Given the description of an element on the screen output the (x, y) to click on. 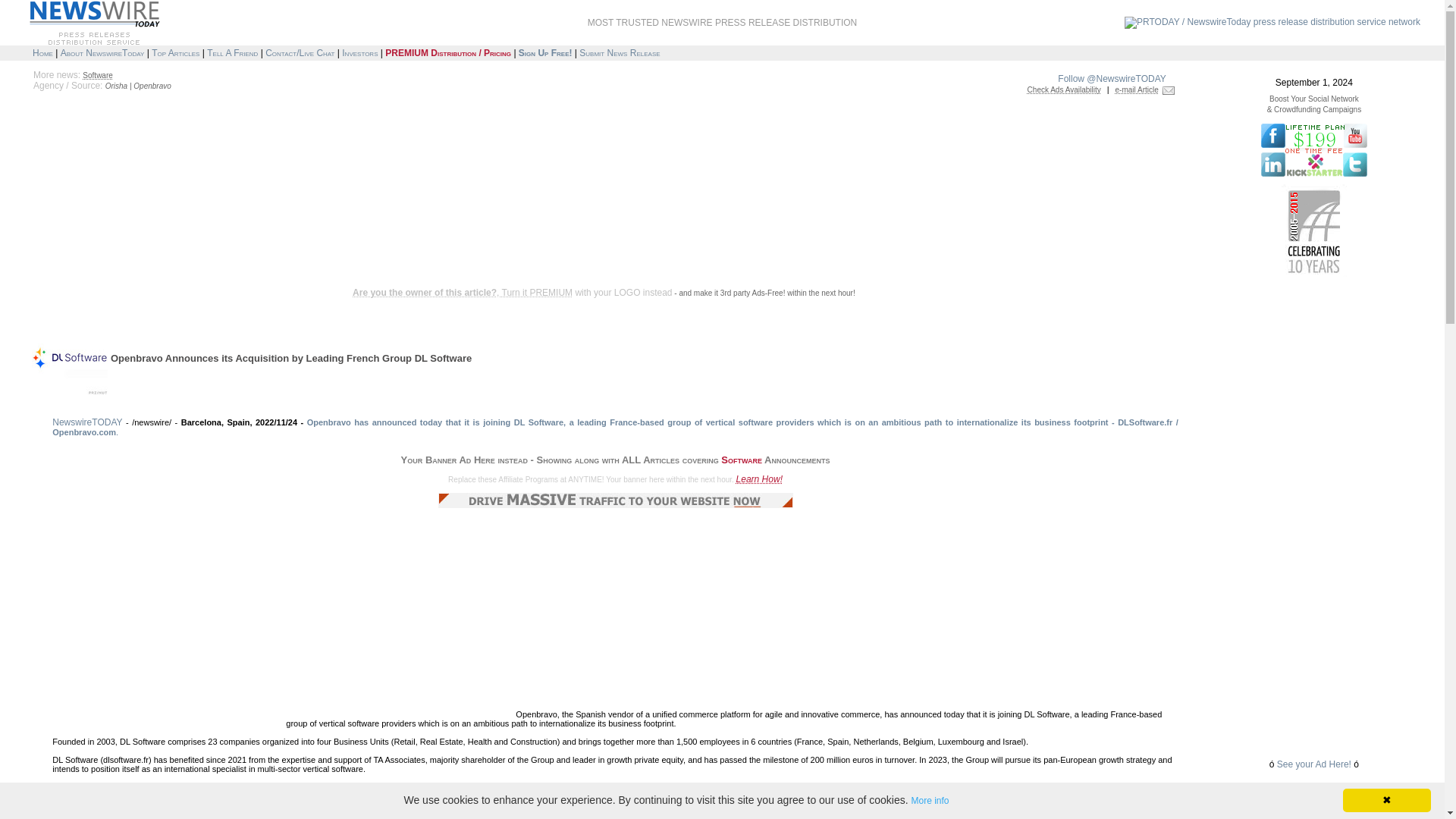
Read more articles about Software (97, 75)
Software (97, 74)
Purchase banner Targeted Ads for all articles about Software (1063, 89)
About NewswireToday (102, 52)
e-mail Article (1136, 89)
NewswireTODAY (87, 421)
Contact NewswireToday (299, 52)
